Given the description of an element on the screen output the (x, y) to click on. 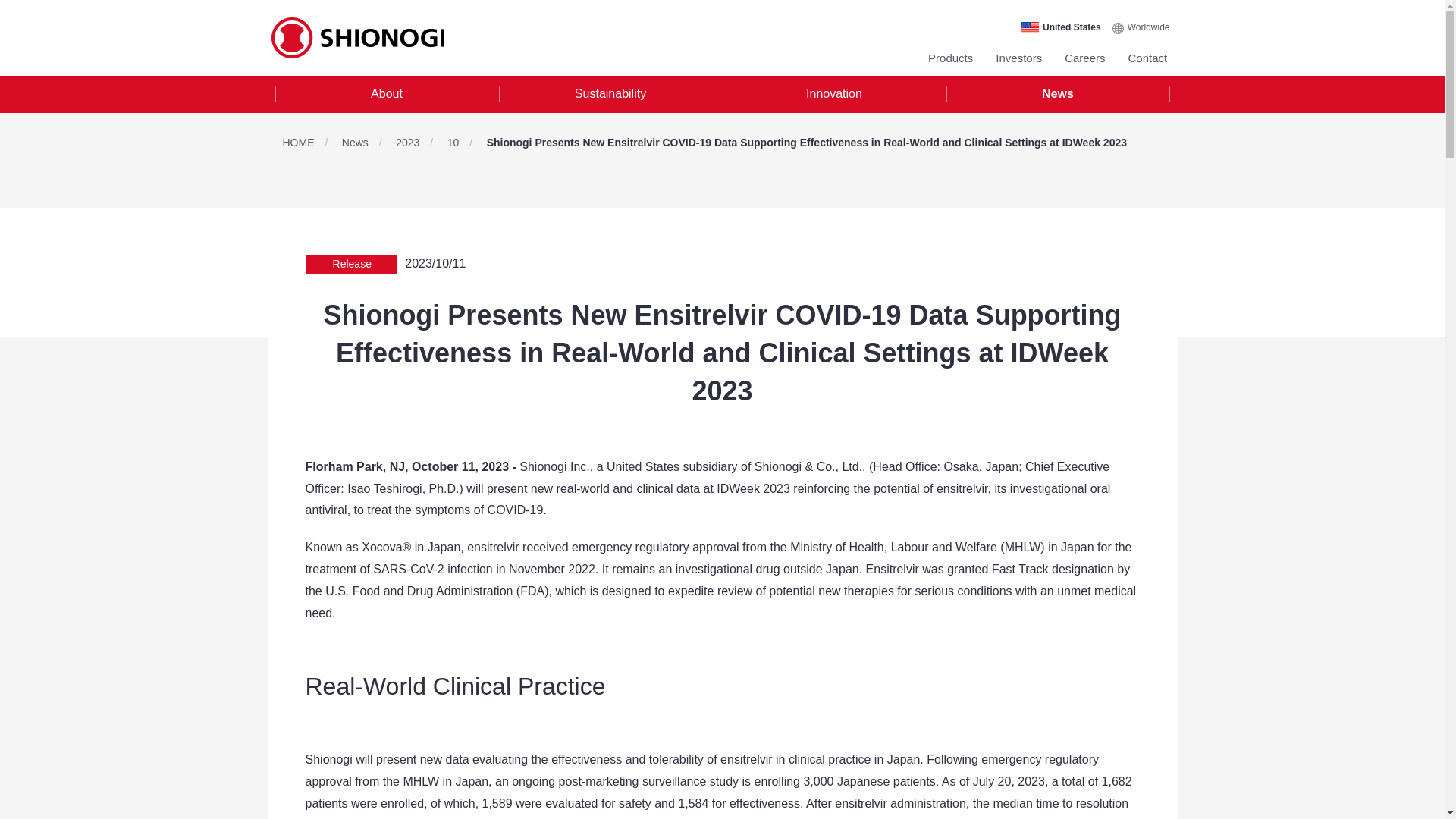
News (1058, 94)
Worldwide (1141, 27)
News (367, 142)
Careers (1084, 57)
Products (950, 57)
HOME (309, 142)
10 (464, 142)
2023 (420, 142)
About (386, 94)
Investors (1018, 57)
Innovation (833, 94)
Contact (1147, 57)
Sustainability (610, 94)
